Given the description of an element on the screen output the (x, y) to click on. 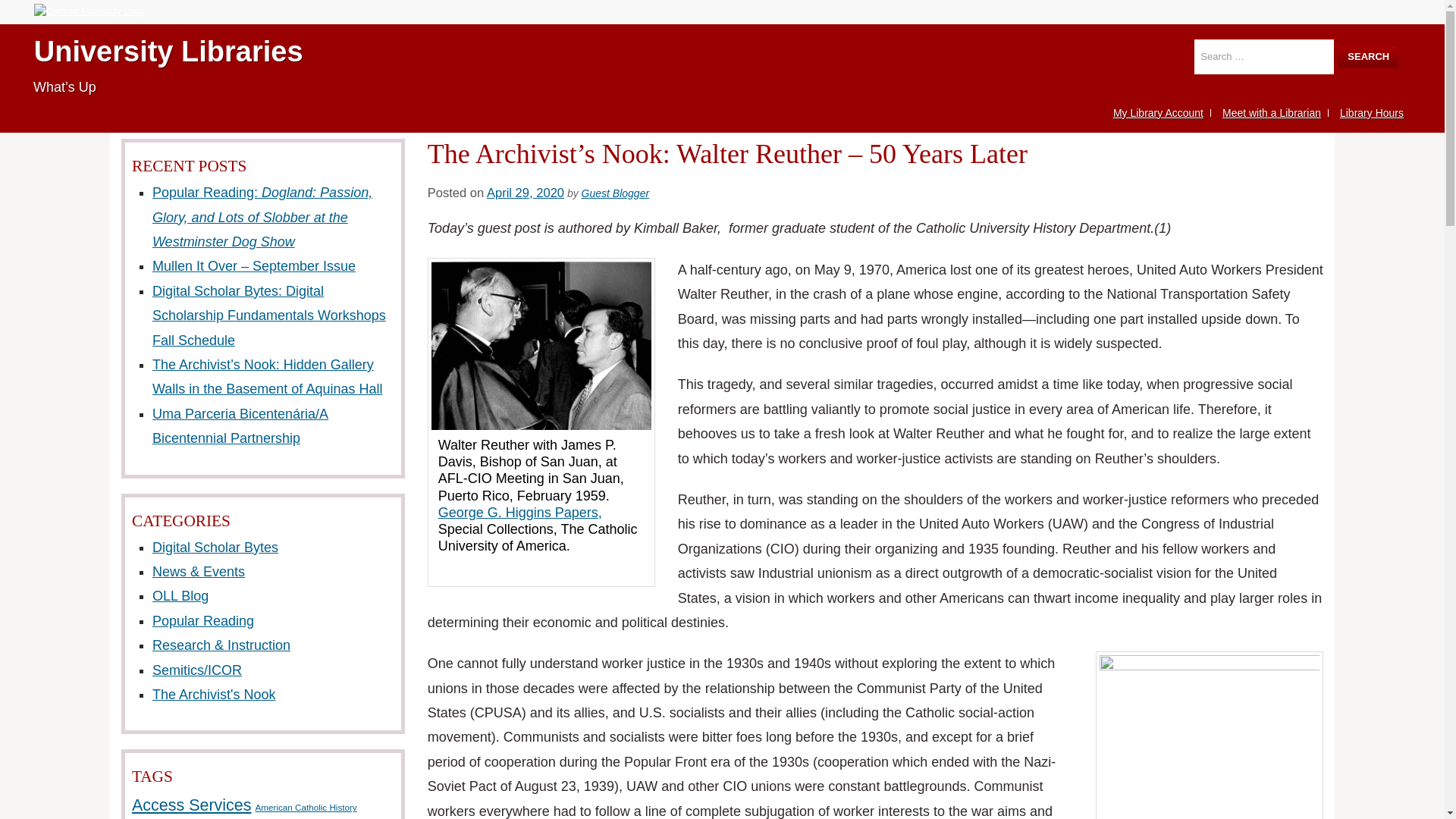
April 29, 2020 (525, 192)
My Library Account (1158, 112)
Library Hours (1371, 112)
Search (1368, 56)
Guest Blogger (614, 193)
Search (1368, 56)
Search (1368, 56)
Meet with a Librarian (1270, 112)
